Given the description of an element on the screen output the (x, y) to click on. 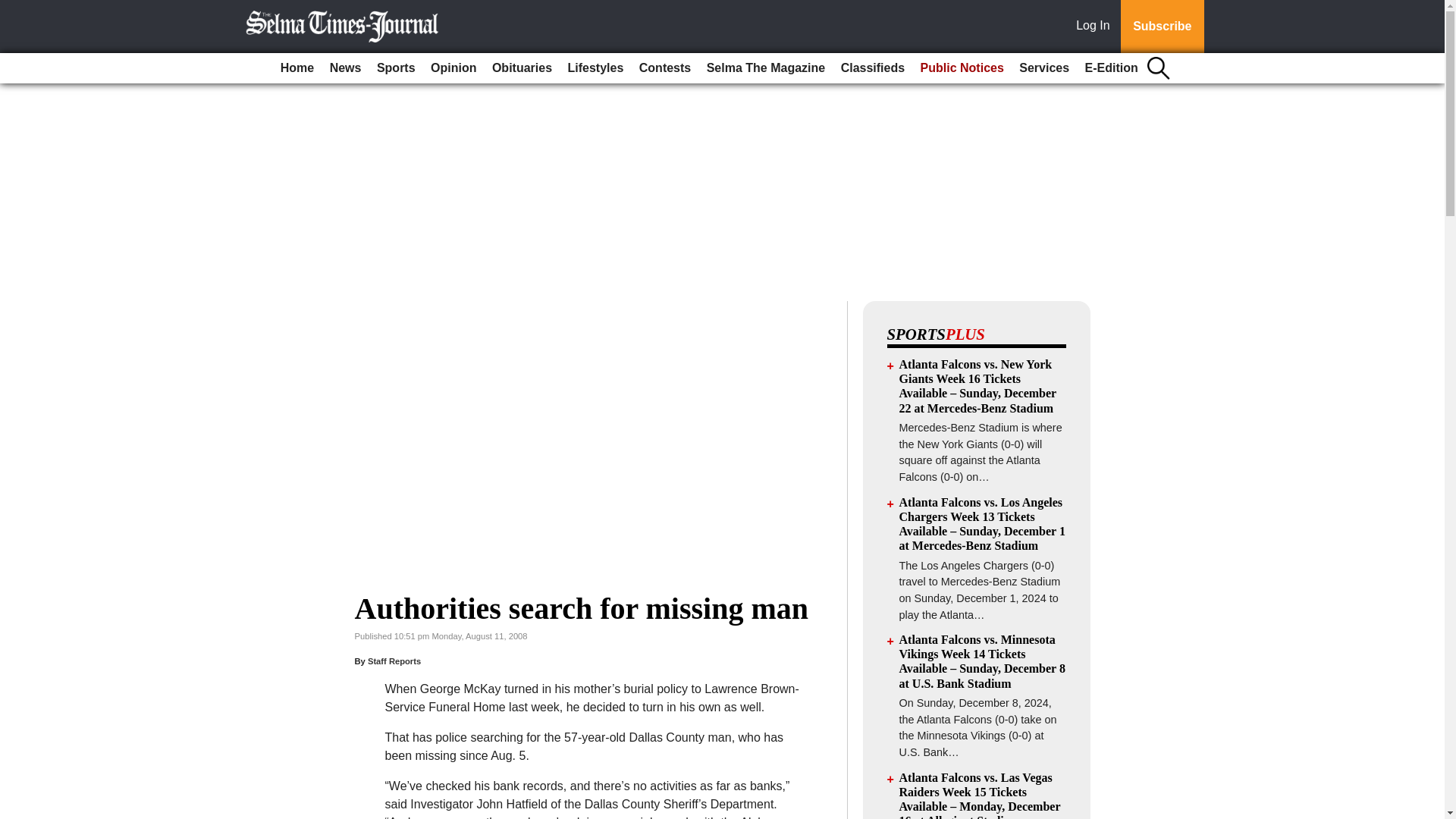
Staff Reports (394, 660)
Home (297, 68)
Opinion (453, 68)
Selma The Magazine (765, 68)
Contests (665, 68)
Go (13, 9)
News (345, 68)
Subscribe (1162, 26)
Lifestyles (596, 68)
Obituaries (521, 68)
E-Edition (1111, 68)
Log In (1095, 26)
Classifieds (872, 68)
Services (1044, 68)
Sports (396, 68)
